Given the description of an element on the screen output the (x, y) to click on. 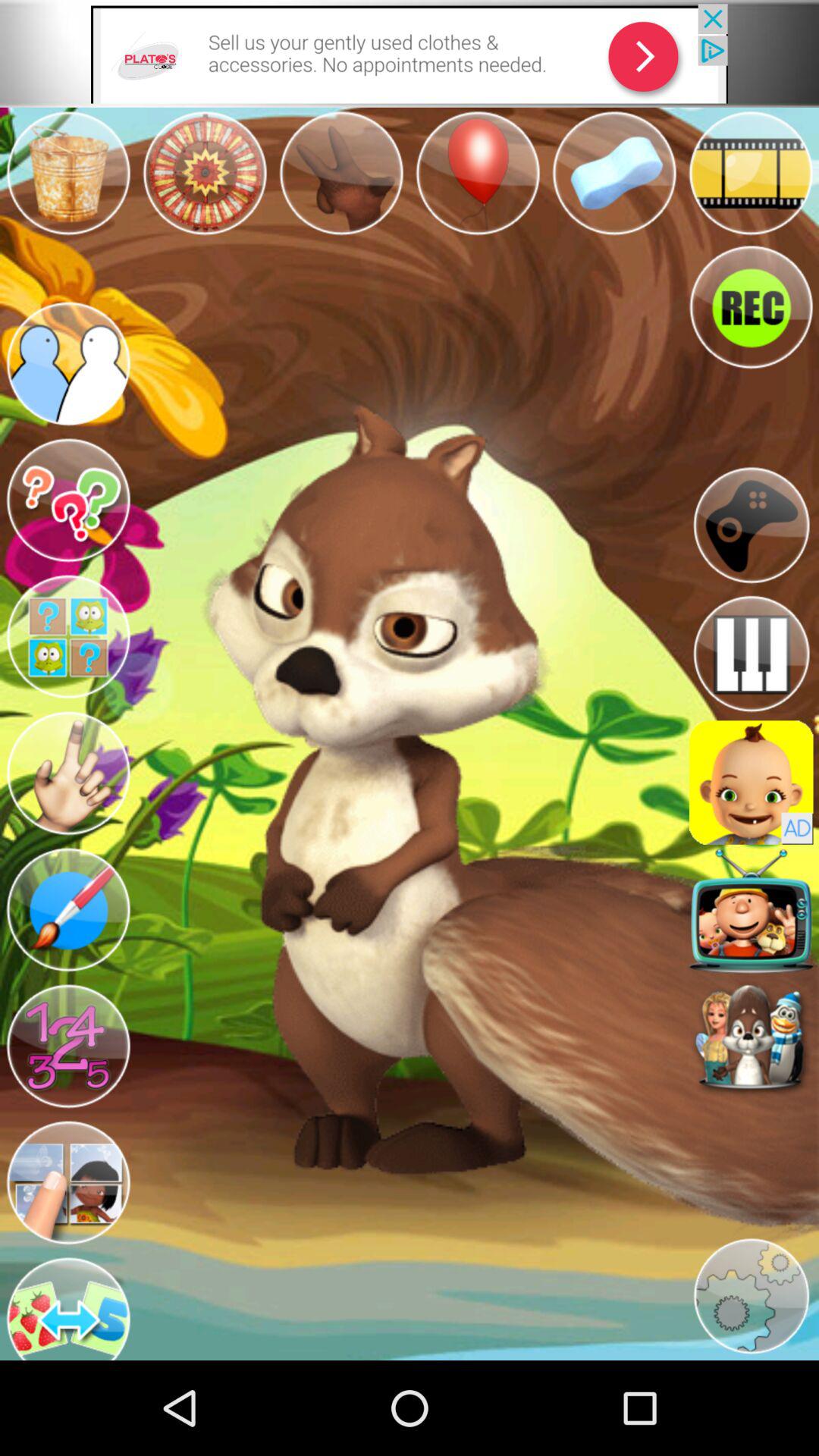
app grouping icon (68, 636)
